Given the description of an element on the screen output the (x, y) to click on. 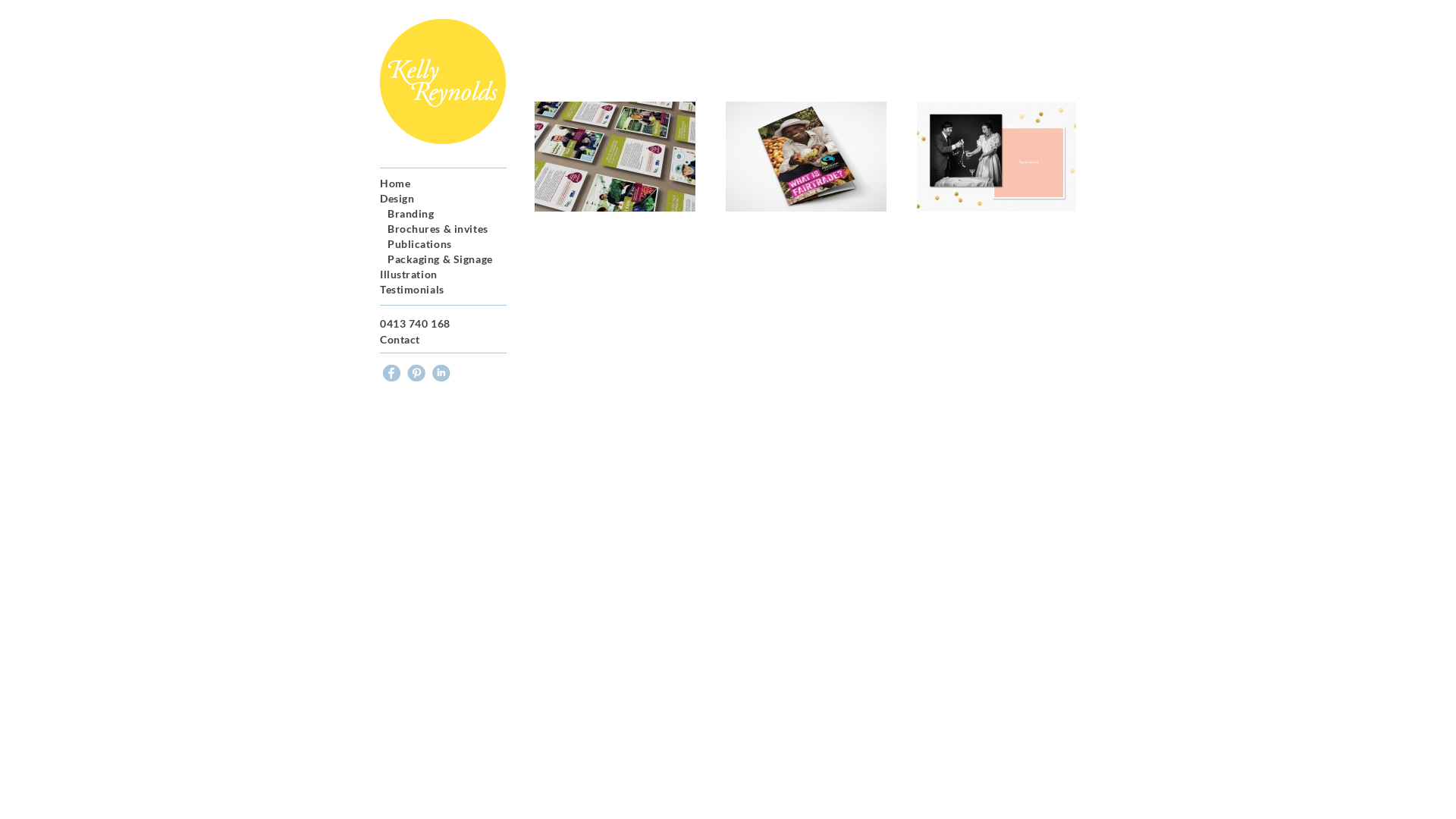
Contact Element type: text (399, 339)
Testimonials Element type: text (411, 289)
Branding Element type: text (410, 213)
Illustration Element type: text (408, 274)
Home Element type: text (394, 183)
Design Element type: text (396, 198)
Kelly Reynolds Element type: text (442, 81)
Publications Element type: text (419, 243)
Packaging & Signage Element type: text (439, 258)
Brochures & invites Element type: text (437, 228)
